Given the description of an element on the screen output the (x, y) to click on. 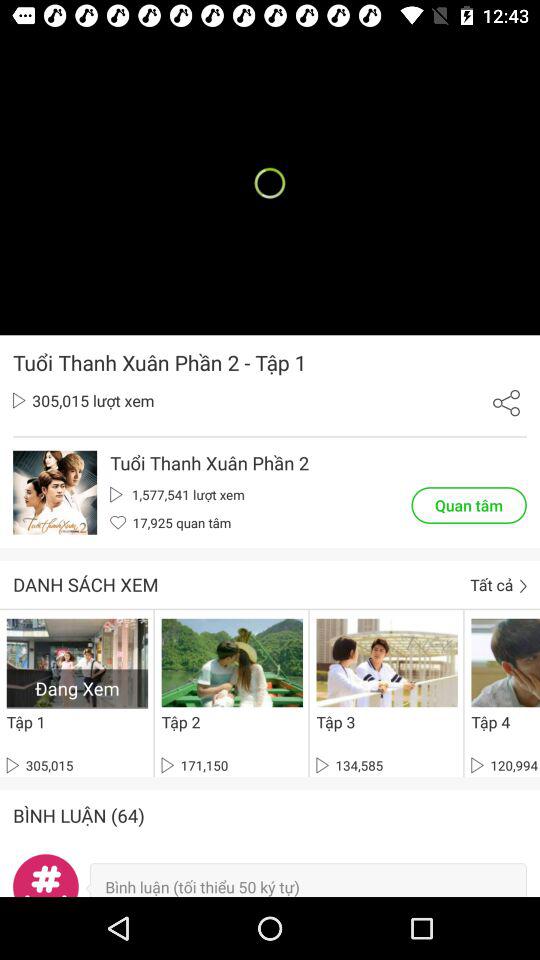
tap 120,994 item (504, 765)
